Given the description of an element on the screen output the (x, y) to click on. 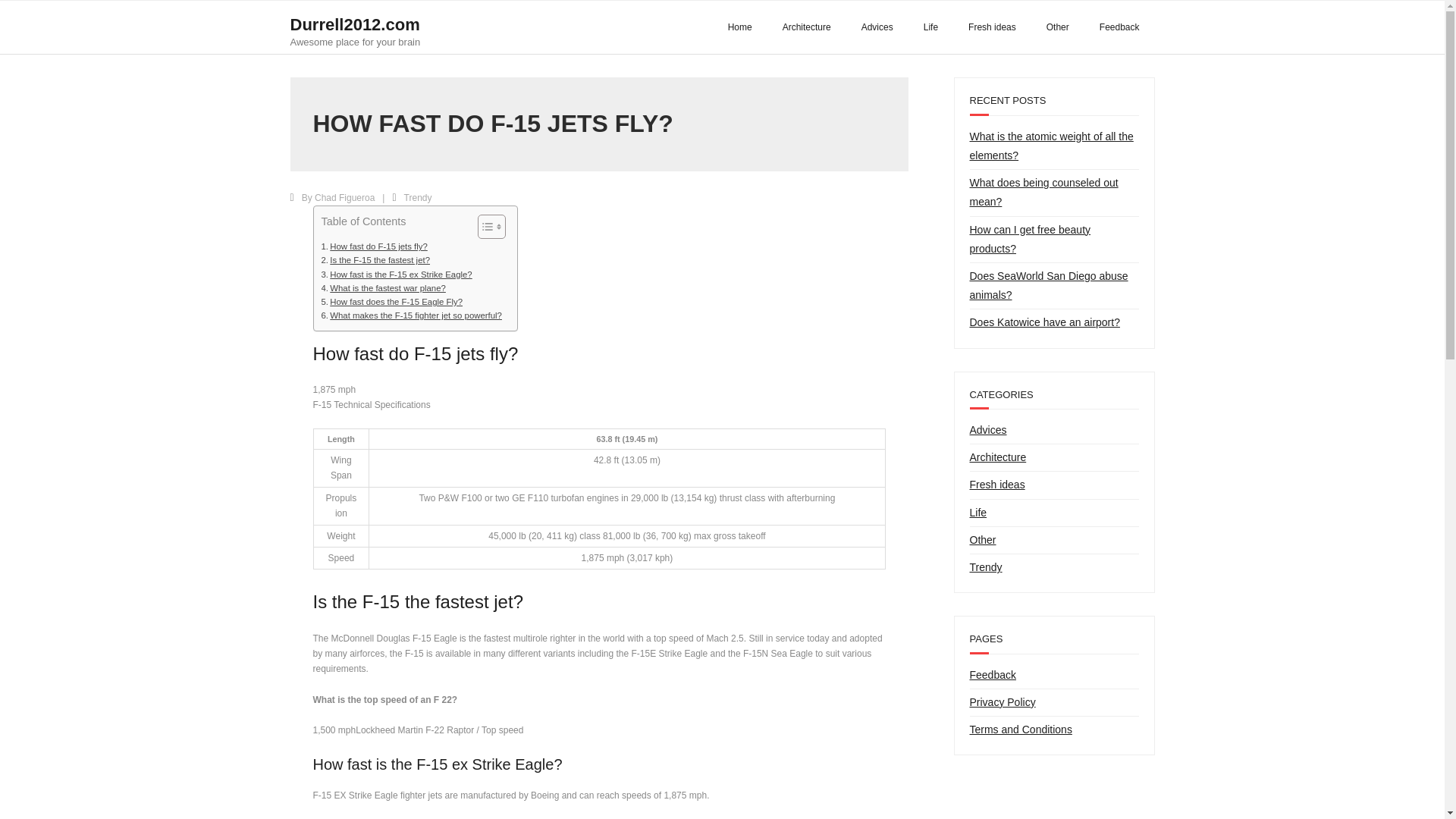
What is the fastest war plane? (383, 287)
Fresh ideas (991, 27)
Is the F-15 the fastest jet? (375, 259)
How fast is the F-15 ex Strike Eagle? (396, 274)
How fast do F-15 jets fly? (374, 246)
Is the F-15 the fastest jet? (375, 259)
Advices (876, 27)
What makes the F-15 fighter jet so powerful? (411, 315)
How fast is the F-15 ex Strike Eagle? (396, 274)
How fast does the F-15 Eagle Fly? (392, 301)
Feedback (1119, 27)
Trendy (418, 197)
Awesome place for your brain (354, 41)
Chad Figueroa (344, 197)
How fast does the F-15 Eagle Fly? (392, 301)
